Given the description of an element on the screen output the (x, y) to click on. 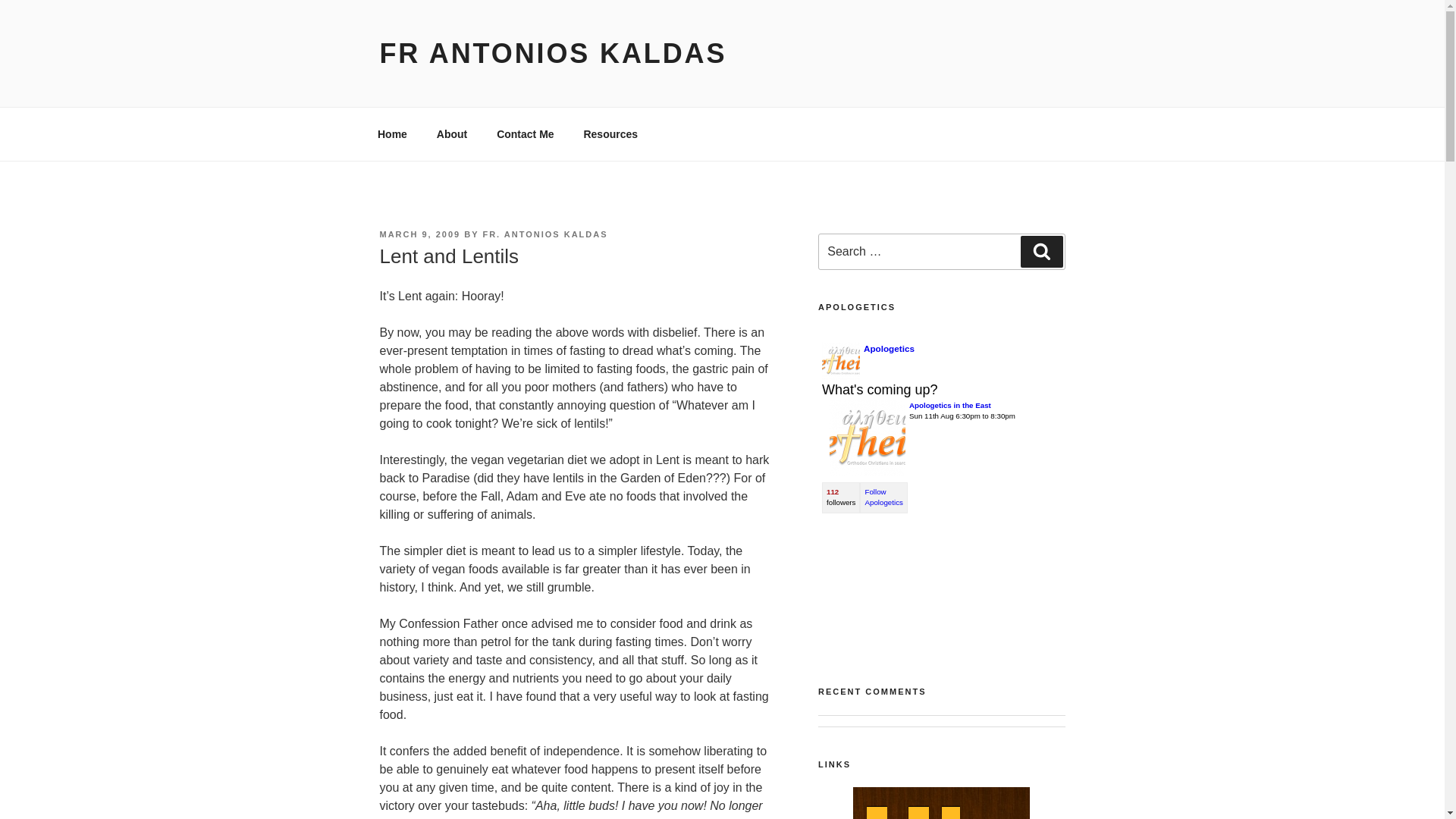
Resources (610, 133)
About (451, 133)
FR. ANTONIOS KALDAS (544, 234)
MARCH 9, 2009 (419, 234)
Contact Me (525, 133)
Home (392, 133)
FR ANTONIOS KALDAS (552, 52)
Search (1041, 251)
